Given the description of an element on the screen output the (x, y) to click on. 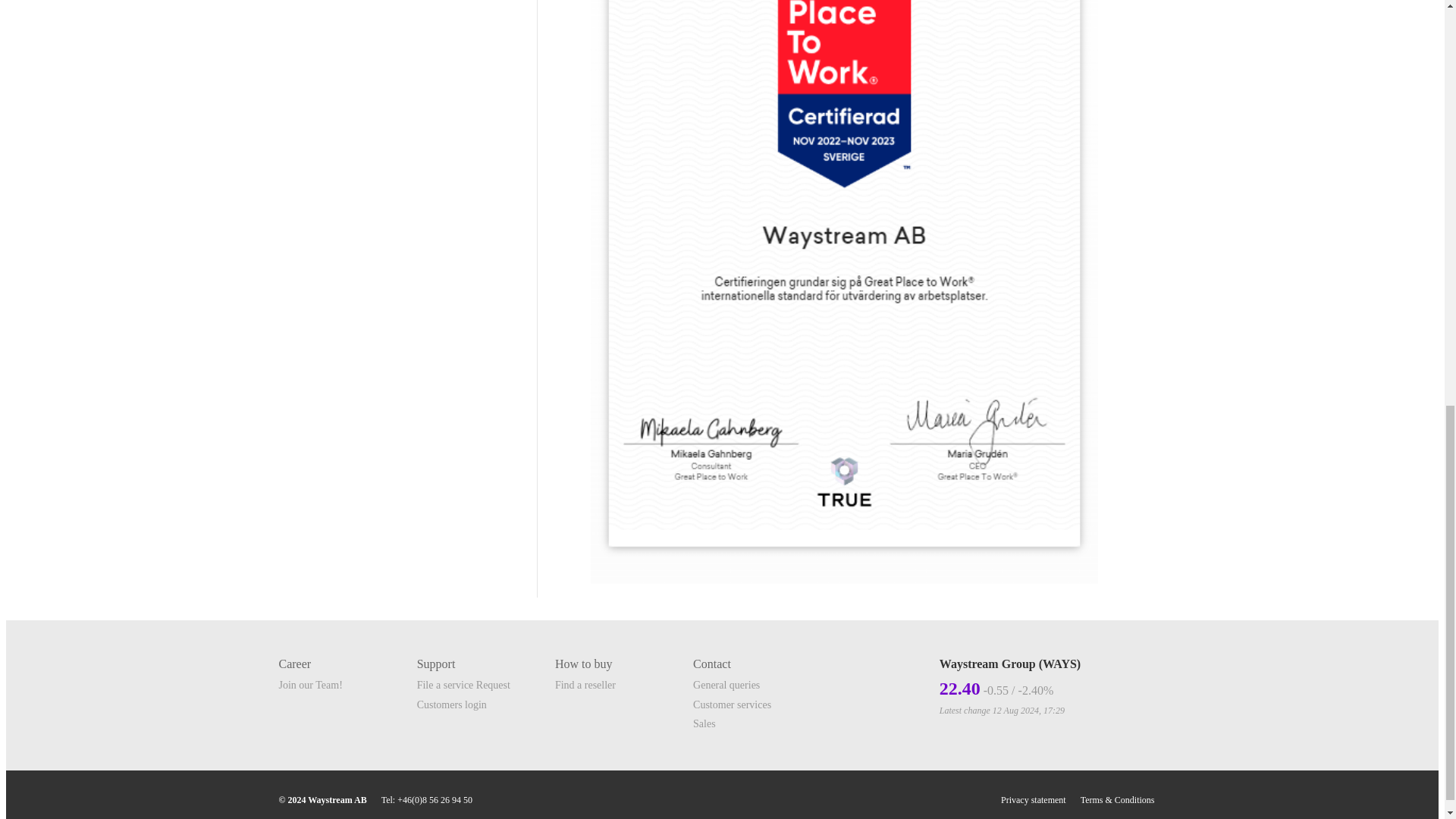
Mail sales (704, 723)
Mail customer services (732, 704)
Find a reseller (584, 685)
Mail general queries (726, 685)
